Given the description of an element on the screen output the (x, y) to click on. 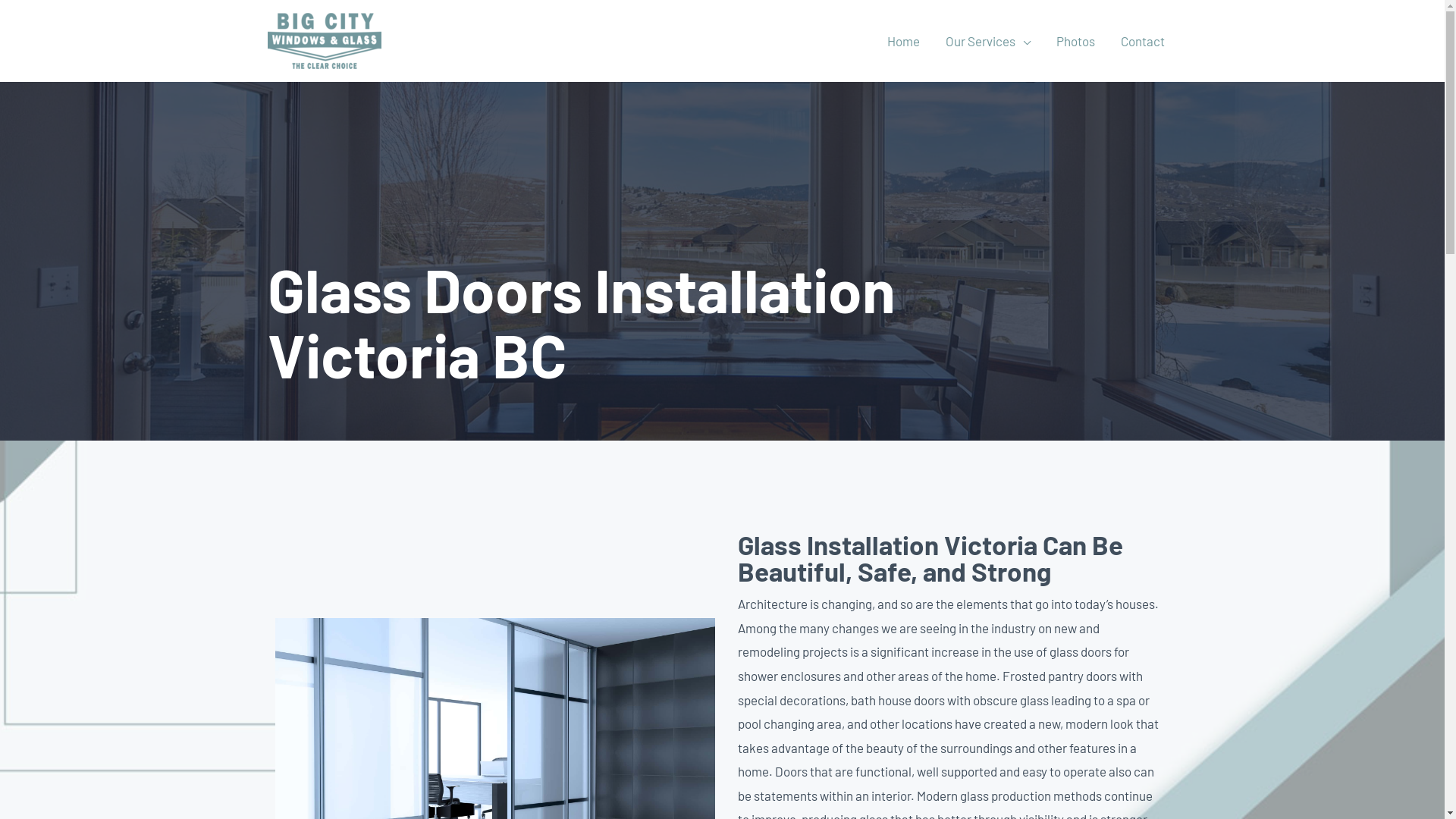
Home Element type: text (902, 40)
Photos Element type: text (1075, 40)
Contact Element type: text (1141, 40)
Our Services Element type: text (987, 40)
